Given the description of an element on the screen output the (x, y) to click on. 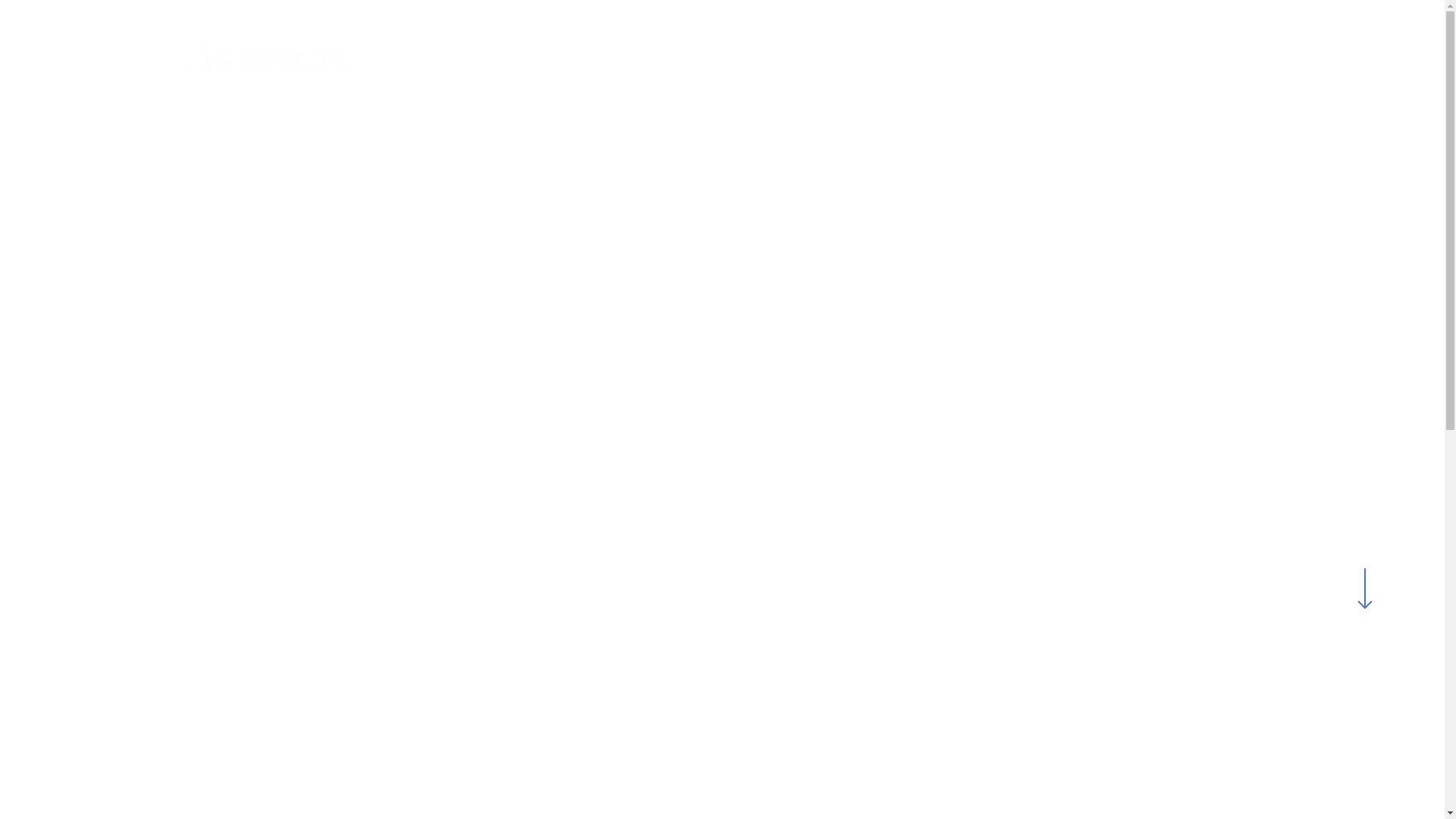
Firmen Element type: text (807, 64)
News Element type: text (1238, 64)
